Given the description of an element on the screen output the (x, y) to click on. 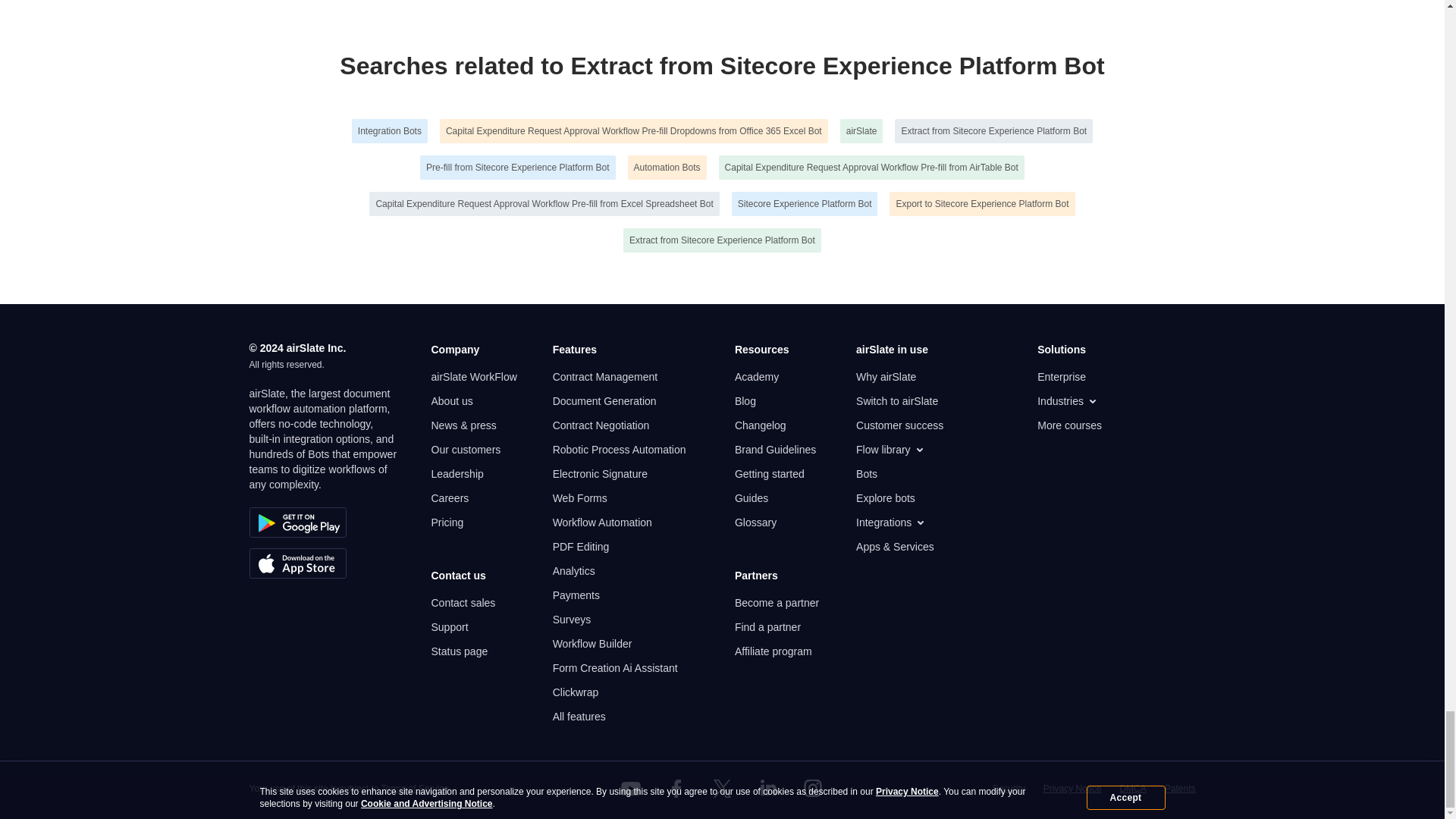
Instagram (812, 788)
LinkedIn (767, 788)
Facebook (676, 788)
YouTube (630, 788)
Twitter (721, 788)
